Given the description of an element on the screen output the (x, y) to click on. 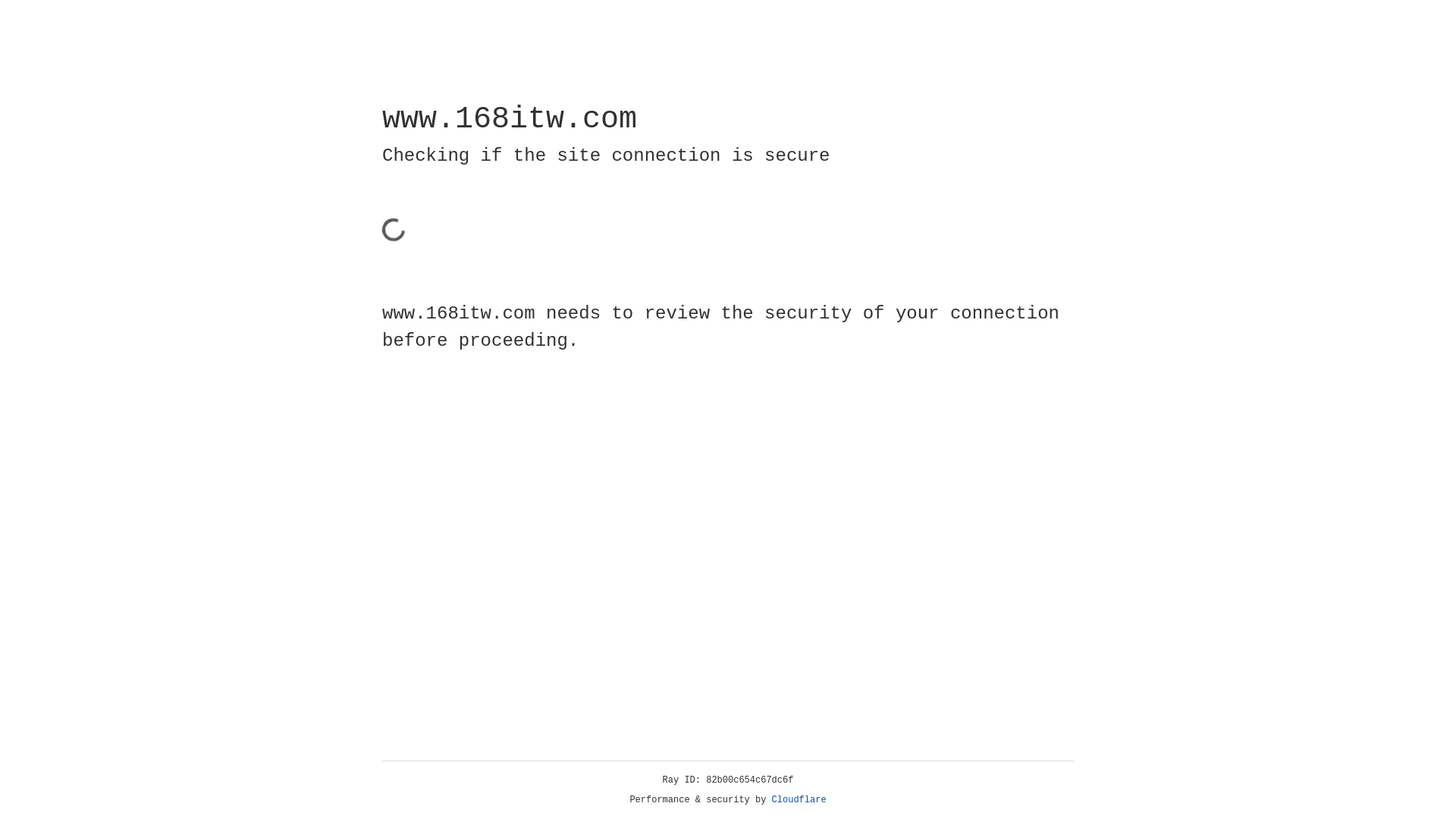
Cloudflare Element type: text (798, 799)
